Given the description of an element on the screen output the (x, y) to click on. 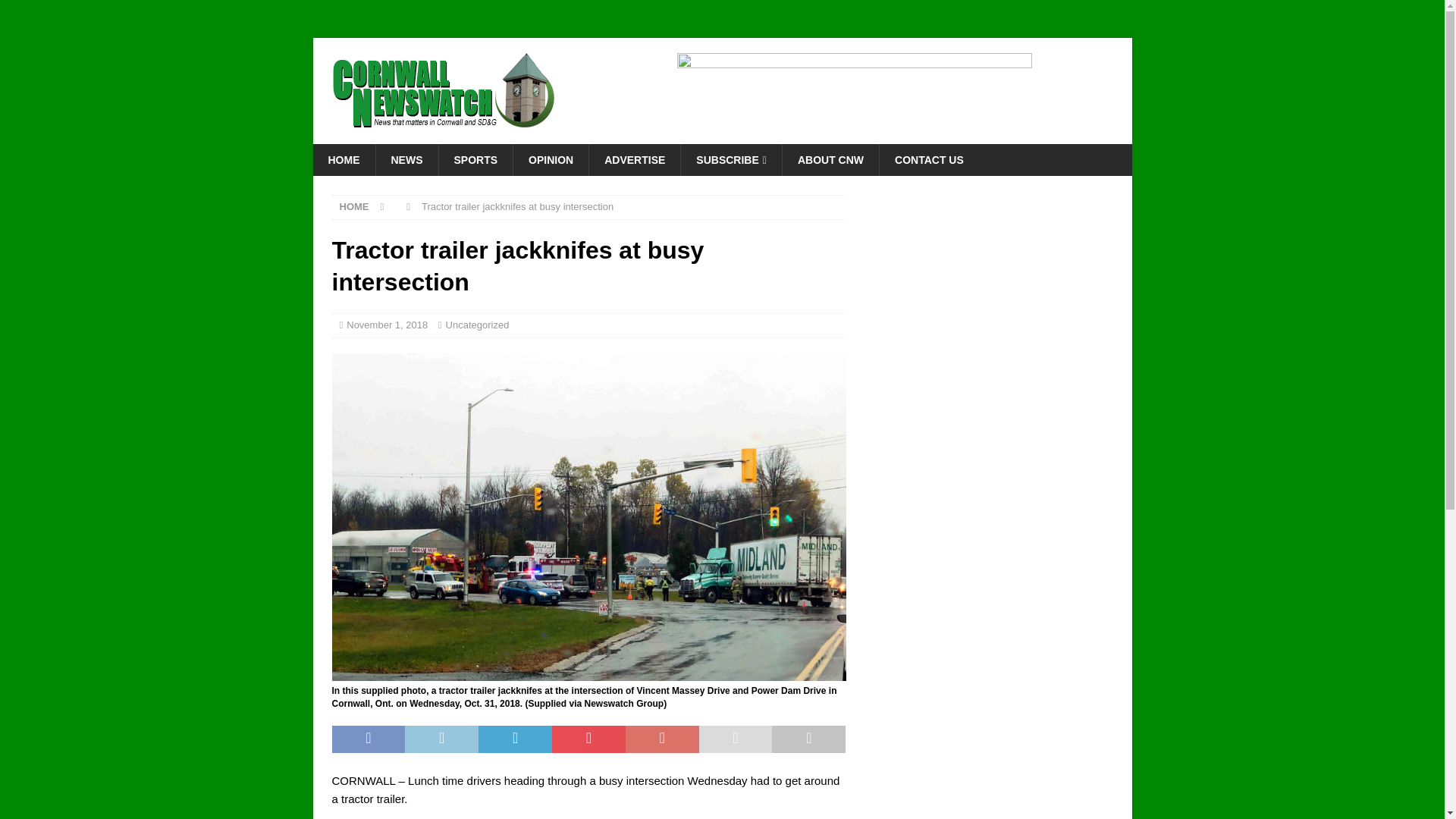
OPINION (550, 160)
CONTACT US (928, 160)
SPORTS (475, 160)
HOME (354, 206)
SUBSCRIBE (730, 160)
ABOUT CNW (830, 160)
ADVERTISE (633, 160)
November 1, 2018 (387, 324)
NEWS (406, 160)
